Given the description of an element on the screen output the (x, y) to click on. 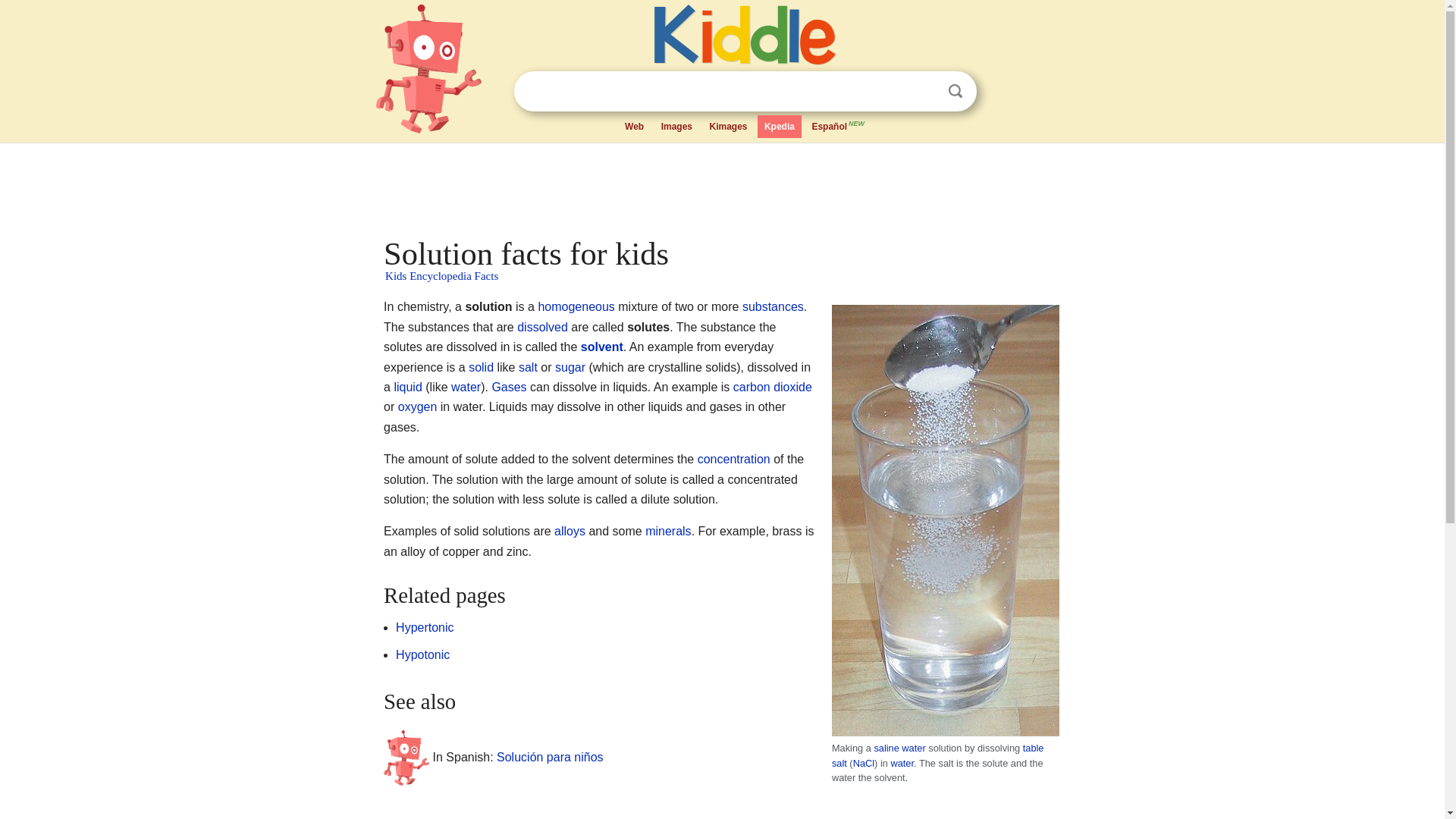
minerals (667, 530)
Oxygen (417, 406)
Hypotonic (422, 654)
Salt (937, 755)
salt (527, 367)
saline water (898, 747)
concentration (733, 459)
Homogeneity (575, 306)
Solvent (601, 346)
liquid (407, 386)
homogeneous (575, 306)
Salt water (898, 747)
Gas (508, 386)
dissolved (541, 327)
Solvation (541, 327)
